Given the description of an element on the screen output the (x, y) to click on. 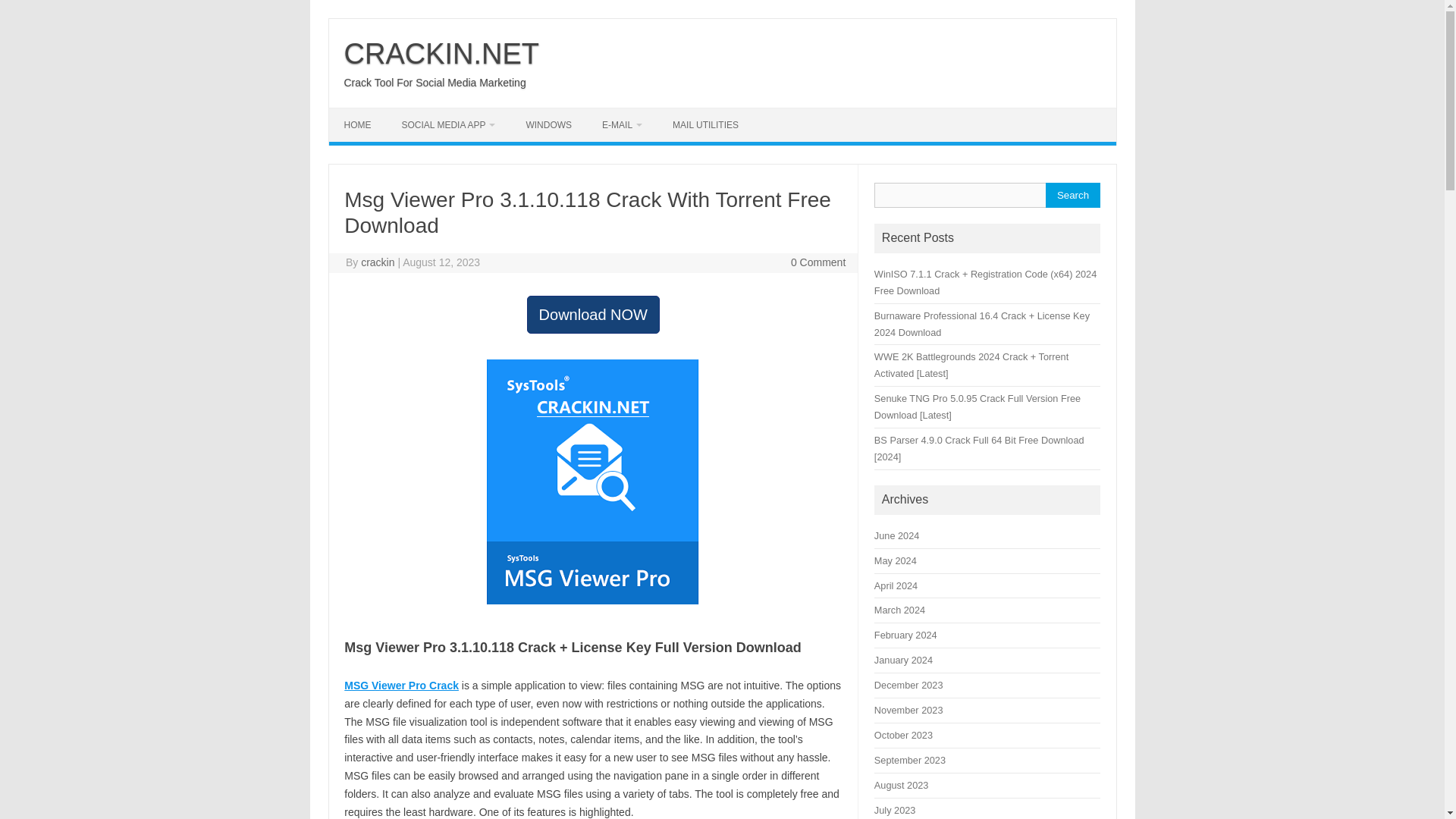
MAIL UTILITIES (706, 124)
E-MAIL (622, 124)
SOCIAL MEDIA APP (449, 124)
Crack Tool For Social Media Marketing (434, 82)
CRACKIN.NET (441, 53)
Posts by crackin (377, 262)
0 Comment (817, 262)
Download NOW (593, 314)
Search (1072, 195)
Search (1072, 195)
CRACKIN.NET (441, 53)
HOME (358, 124)
WINDOWS (548, 124)
crackin (377, 262)
